Given the description of an element on the screen output the (x, y) to click on. 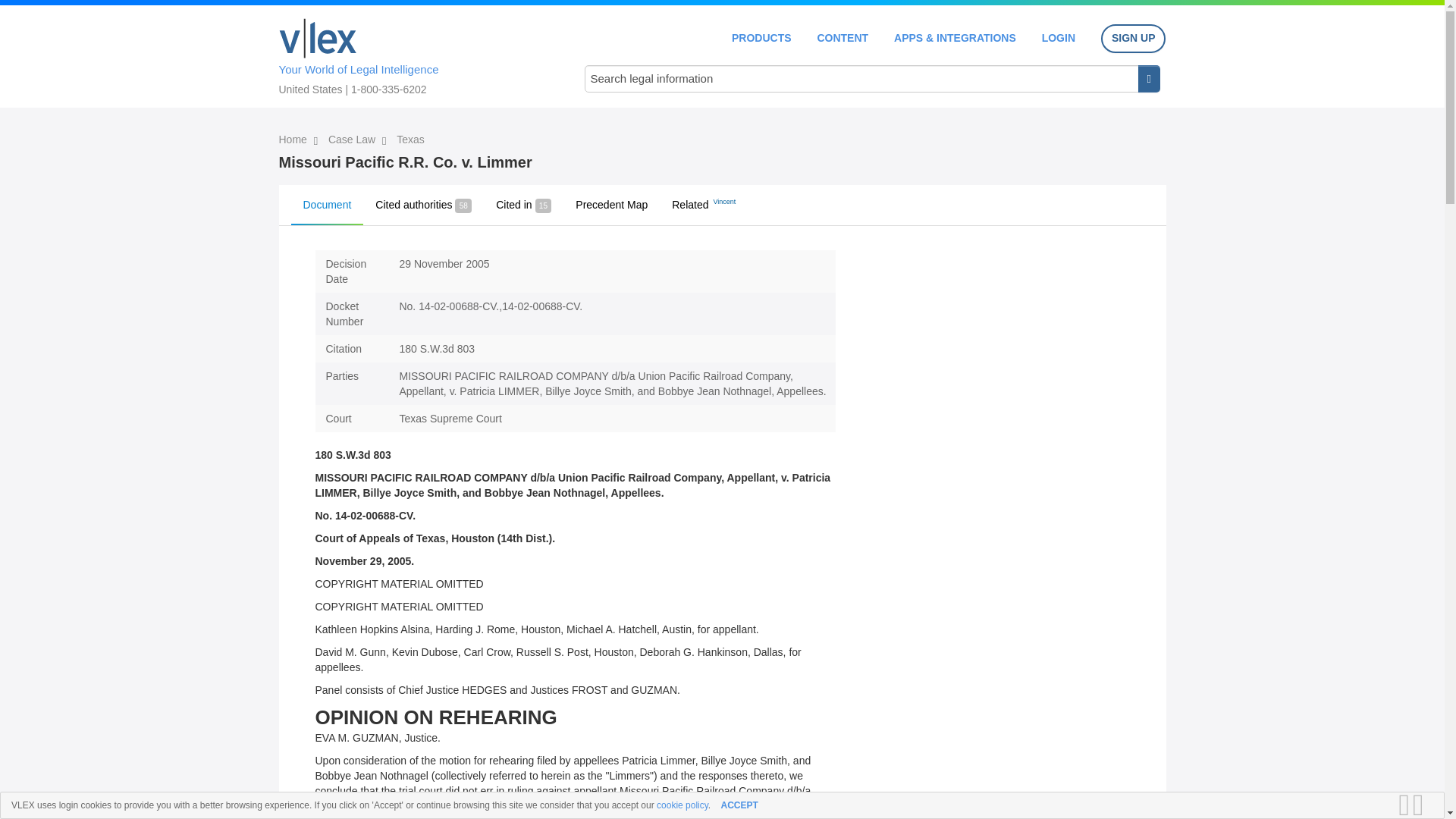
Your World of Legal Intelligence (416, 53)
Home (317, 38)
LOGIN (1058, 37)
SIGN UP (1133, 38)
Home (294, 139)
Case Law (353, 139)
Texas (410, 139)
PRODUCTS (762, 37)
CONTENT (841, 37)
